Given the description of an element on the screen output the (x, y) to click on. 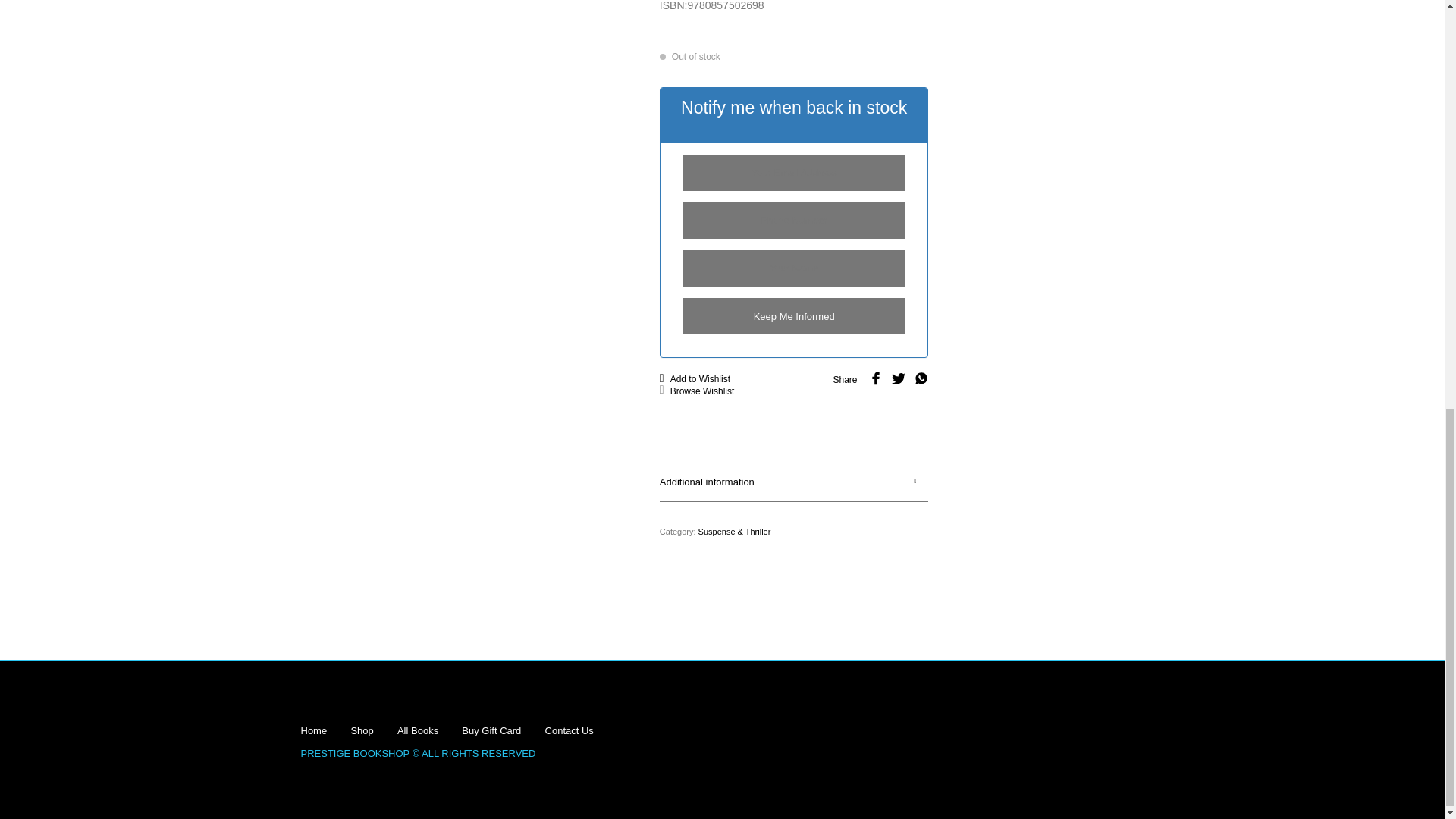
Keep me informed (793, 316)
